Given the description of an element on the screen output the (x, y) to click on. 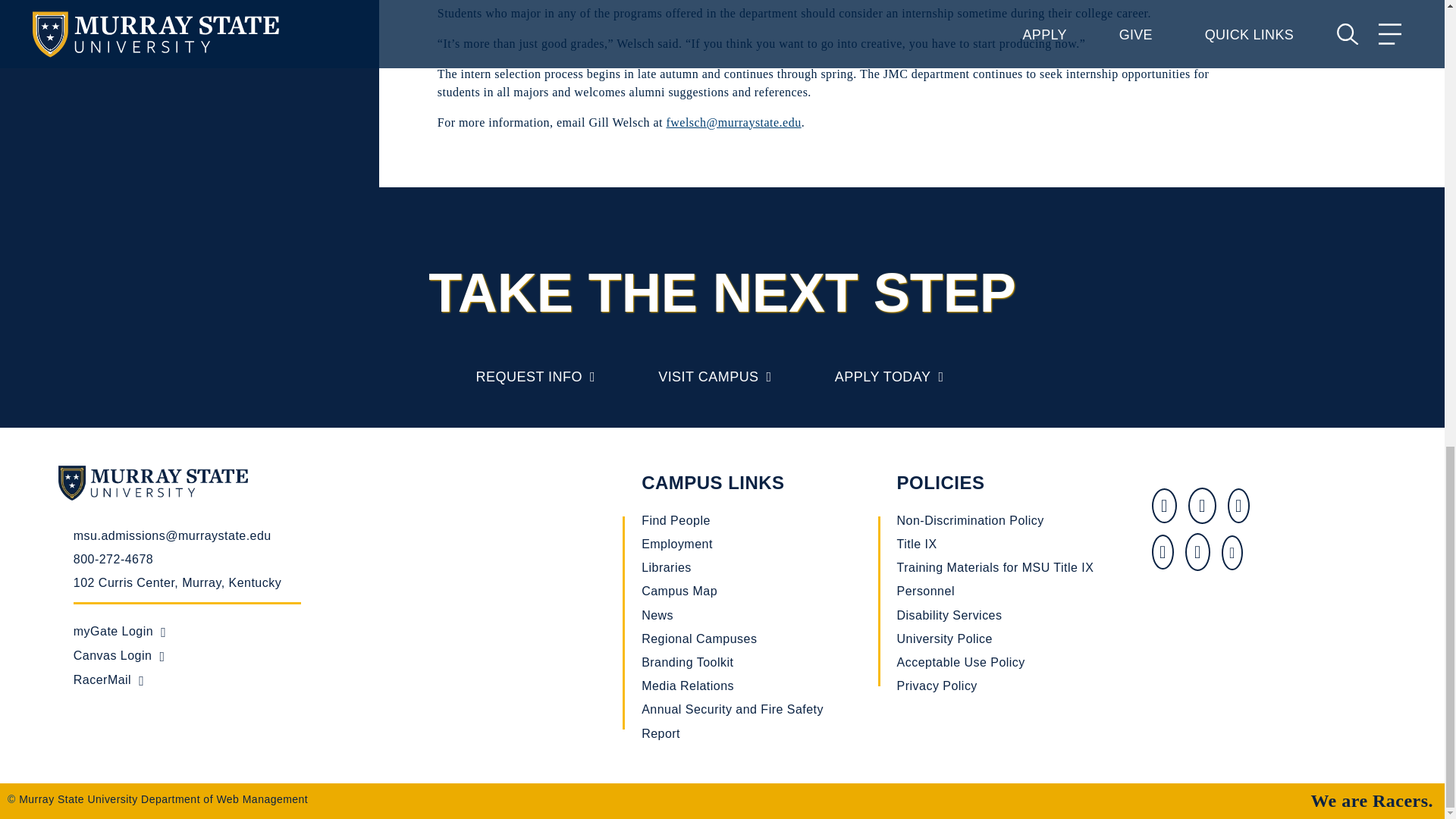
Email Professor Welsch (732, 122)
